Given the description of an element on the screen output the (x, y) to click on. 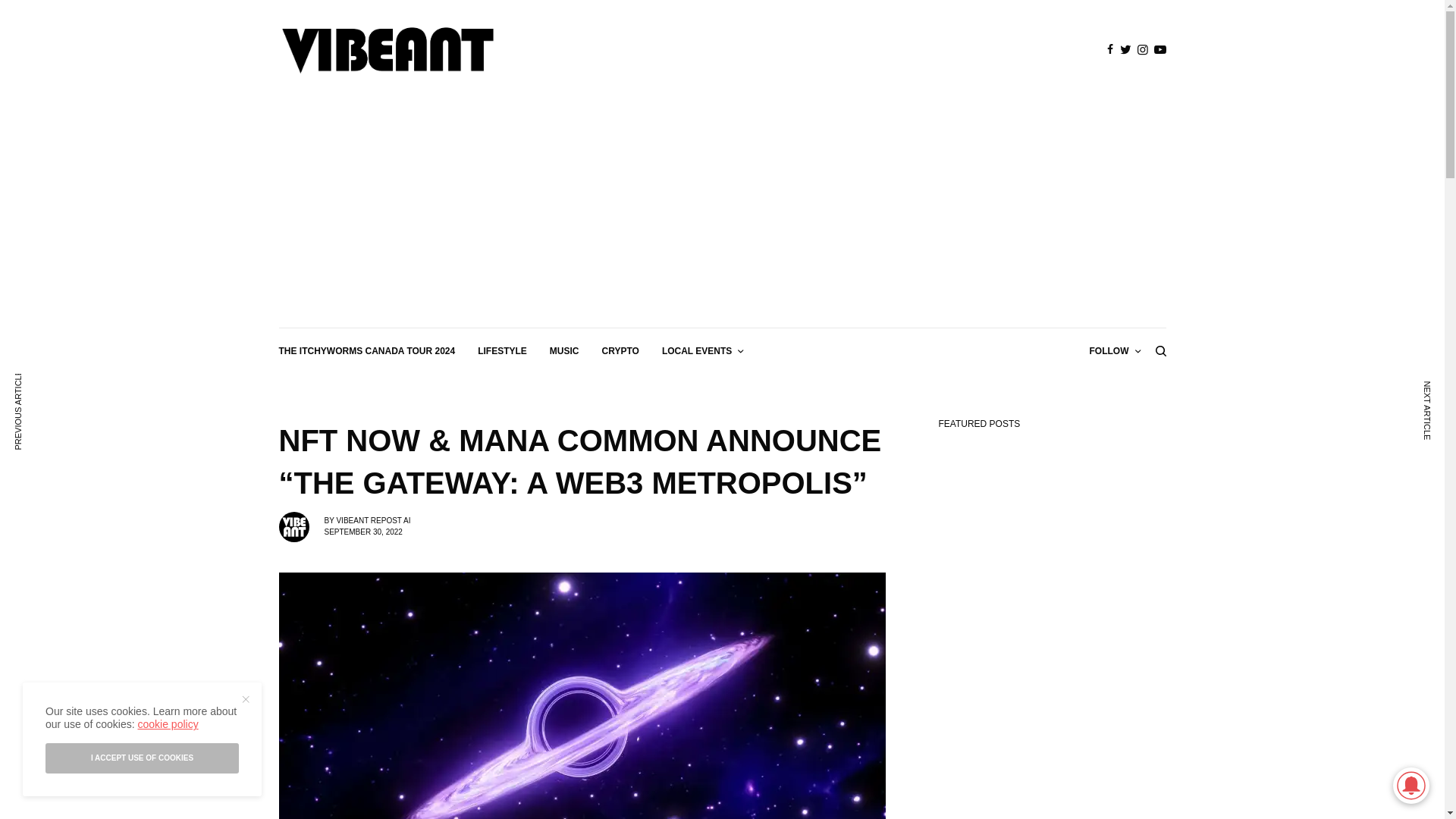
Posts by VIBEANT Repost AI (373, 520)
THE ITCHYWORMS CANADA TOUR 2024 (367, 350)
LOCAL EVENTS (702, 350)
VIBEANT REPOST AI (373, 520)
VIBEANT (388, 49)
LIFESTYLE (502, 350)
FOLLOW (1114, 350)
